Given the description of an element on the screen output the (x, y) to click on. 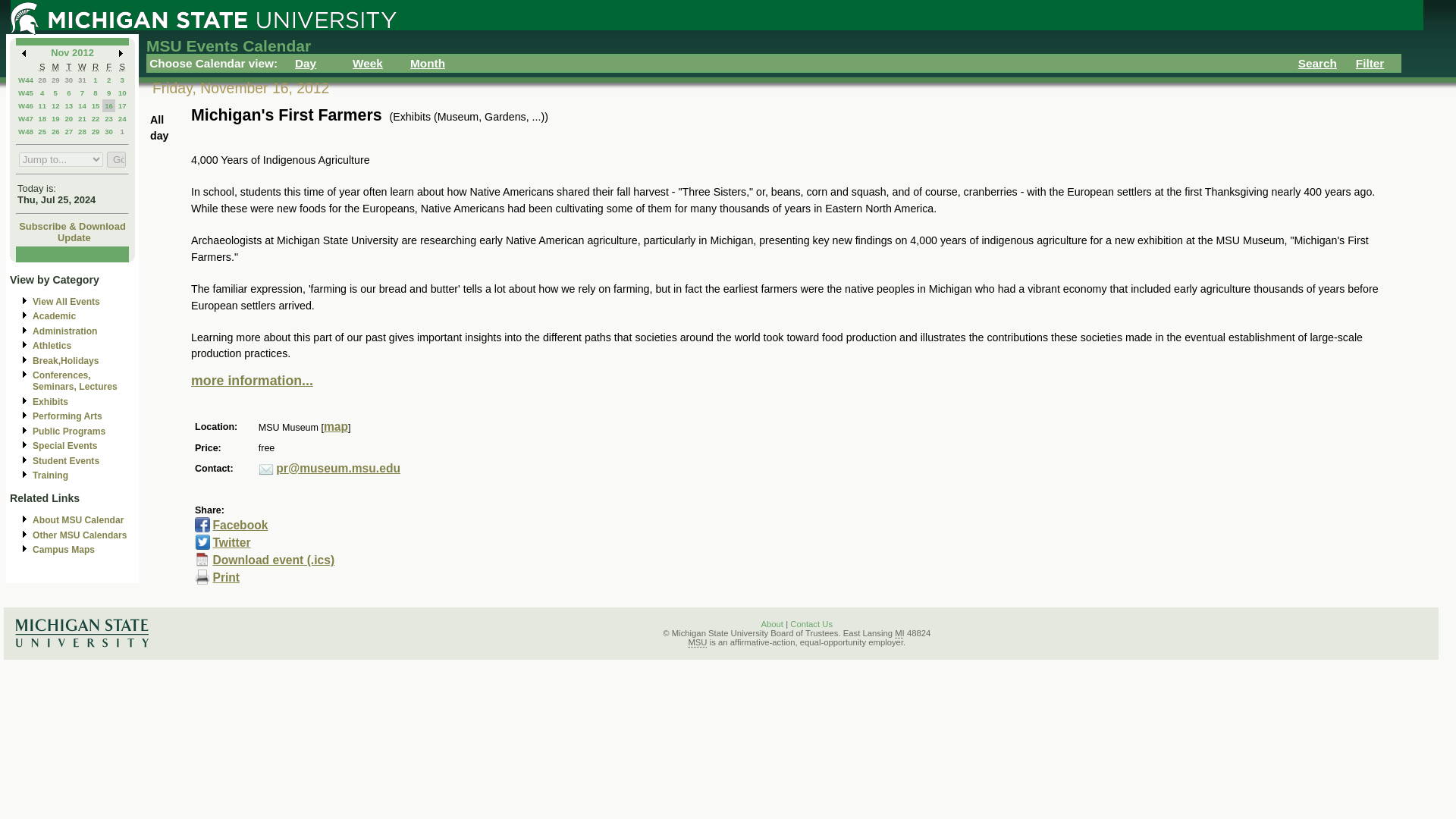
10 (121, 92)
16 (108, 105)
19 (54, 118)
Nov 2012 (72, 52)
28 (41, 80)
20 (68, 118)
14 (81, 105)
29 (54, 80)
W45 (25, 92)
W48 (25, 131)
15 (95, 105)
30 (68, 80)
17 (121, 105)
Michigan (899, 633)
12 (54, 105)
